Given the description of an element on the screen output the (x, y) to click on. 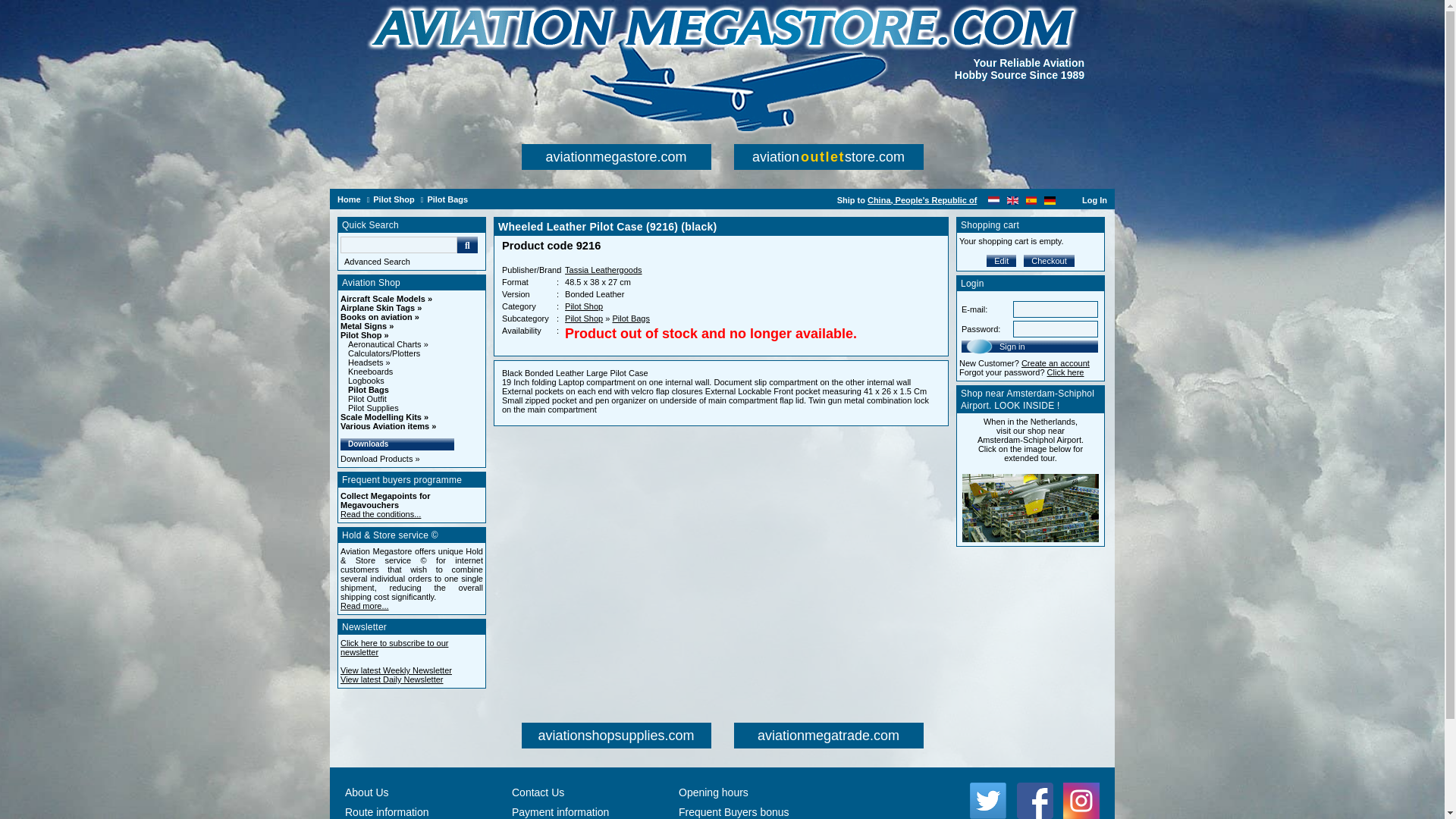
Click here to subscribe to our newsletter (394, 647)
Logbooks (365, 379)
Read more... (364, 605)
Aircraft Scale Models (386, 298)
Edit (1001, 260)
Log In (1093, 199)
Tassia Leathergoods (603, 269)
Pilot Bags (630, 317)
Home (349, 198)
Pilot Outfit (367, 398)
Pilot Supplies (372, 407)
Headsets (368, 361)
View latest Daily Newsletter (392, 678)
Pilot Shop (583, 317)
Advanced Search (413, 261)
